Given the description of an element on the screen output the (x, y) to click on. 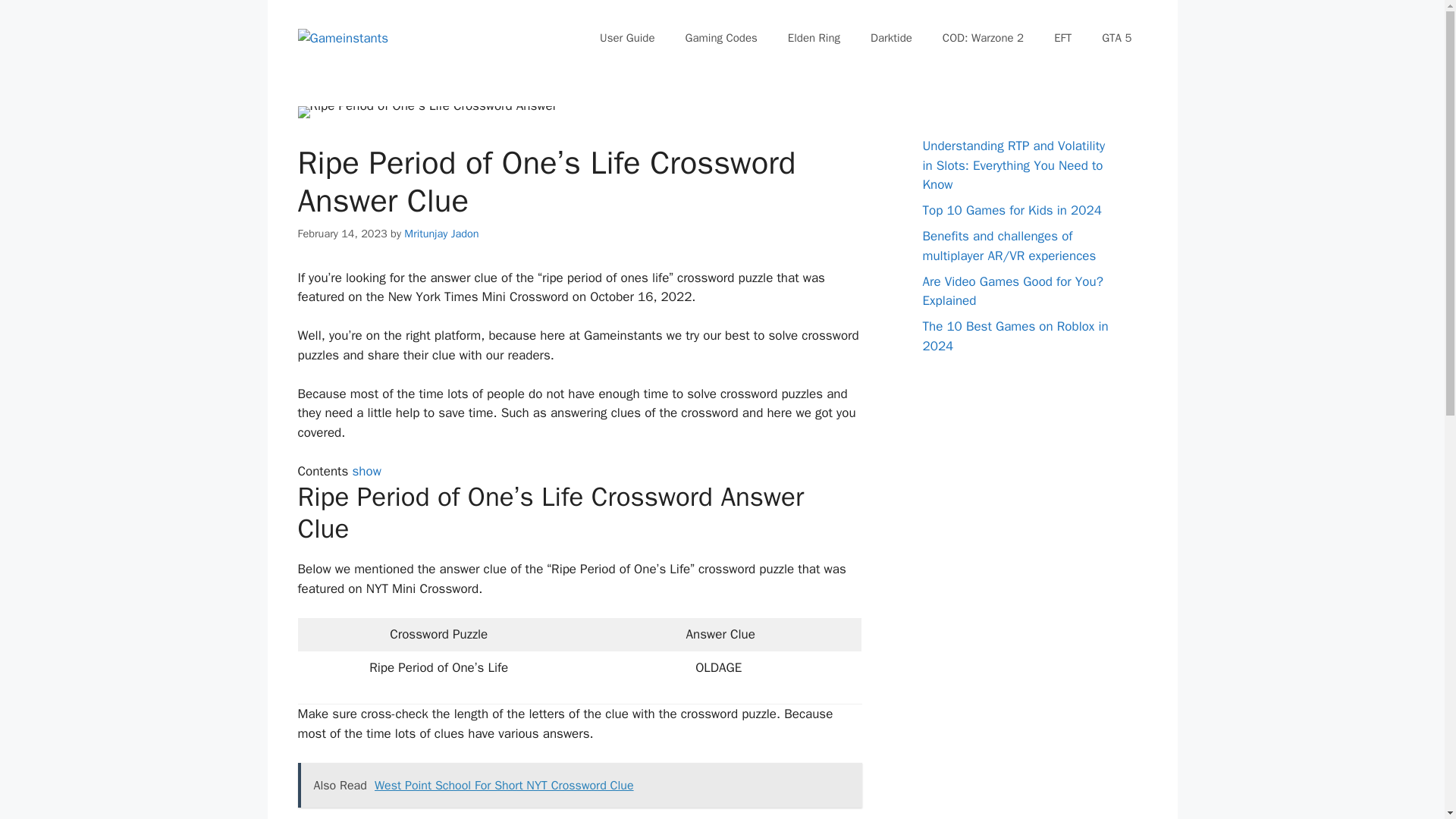
Elden Ring (814, 37)
The 10 Best Games on Roblox in 2024 (1014, 335)
Mritunjay Jadon (441, 233)
Gaming Codes (721, 37)
Also Read  West Point School For Short NYT Crossword Clue (579, 785)
show (366, 471)
Ripe Period of One's Life Crossword Answer Clue (426, 111)
Top 10 Games for Kids in 2024 (1010, 210)
COD: Warzone 2 (983, 37)
Darktide (891, 37)
